Given the description of an element on the screen output the (x, y) to click on. 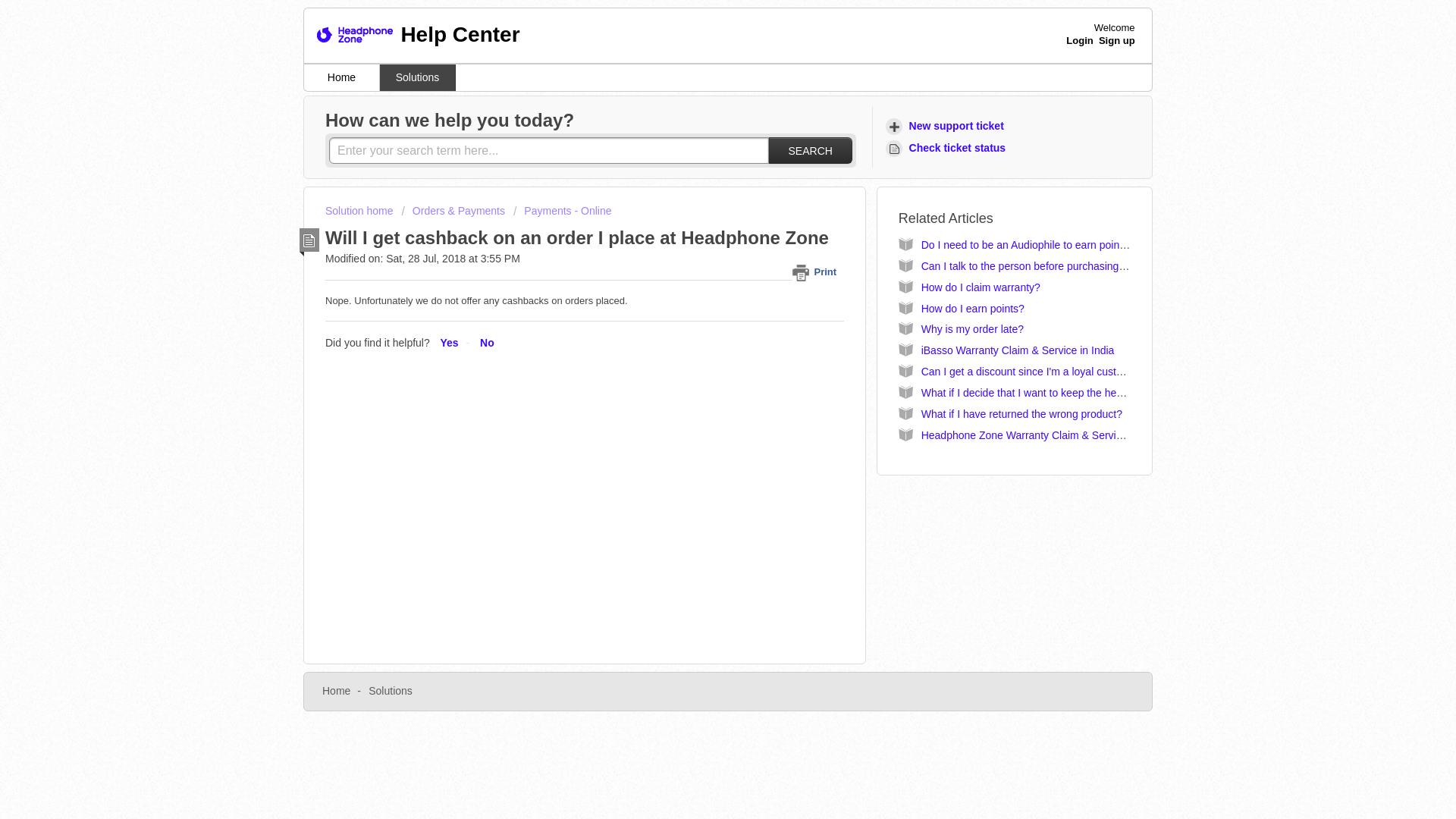
Home (335, 690)
Sign up (1117, 40)
How do I claim warranty? (981, 287)
New support ticket (946, 126)
Solutions (417, 77)
New support ticket (946, 126)
SEARCH (809, 150)
Check ticket status (947, 147)
Payments - Online (562, 210)
Print this Article (818, 271)
Solution home (360, 210)
Solutions (390, 690)
Login (1079, 40)
What if I have returned the wrong product? (1021, 413)
Why is my order late? (972, 328)
